Given the description of an element on the screen output the (x, y) to click on. 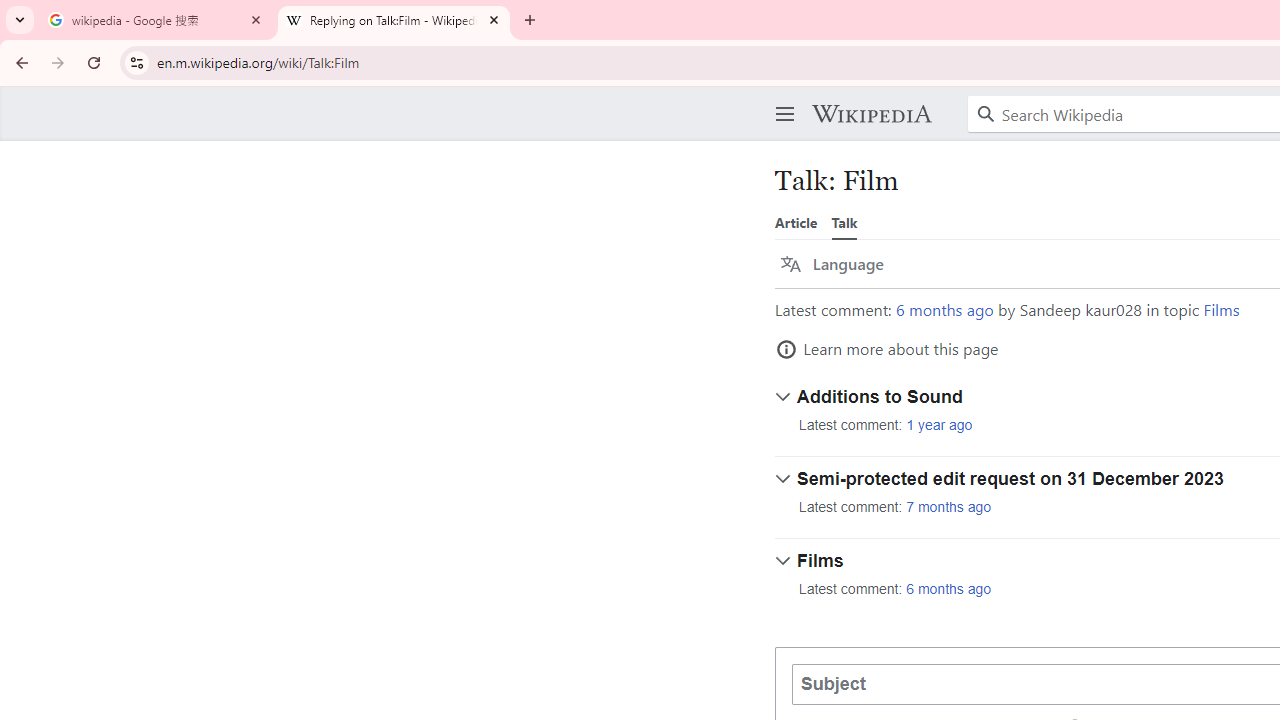
7 months ago (949, 507)
1 year ago (939, 425)
Replying on Talk:Film - Wikipedia (394, 20)
Films (1221, 309)
Talk (843, 222)
6 months ago (949, 589)
